Given the description of an element on the screen output the (x, y) to click on. 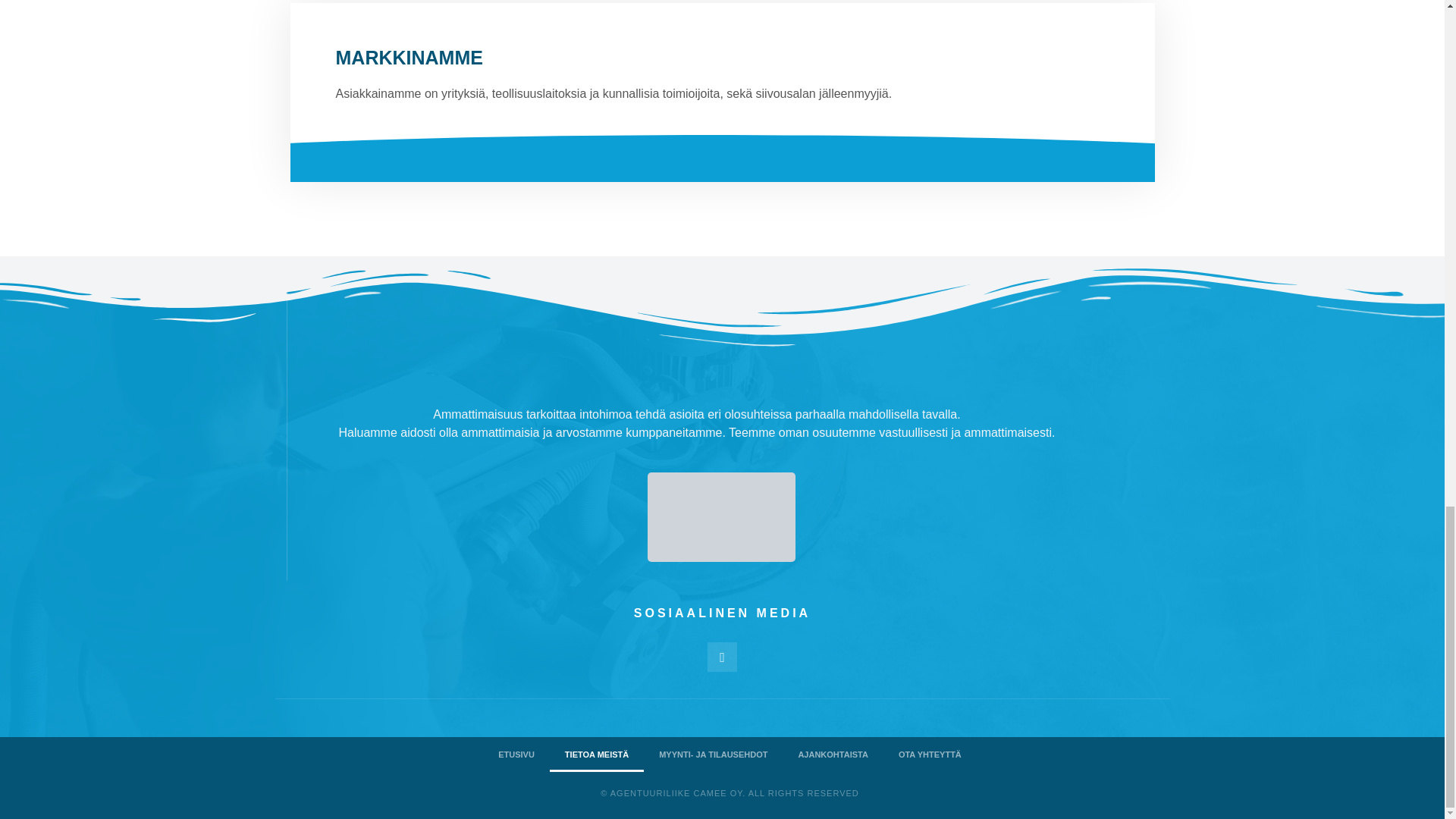
ETUSIVU (516, 754)
MYYNTI- JA TILAUSEHDOT (713, 754)
AJANKOHTAISTA (832, 754)
